Given the description of an element on the screen output the (x, y) to click on. 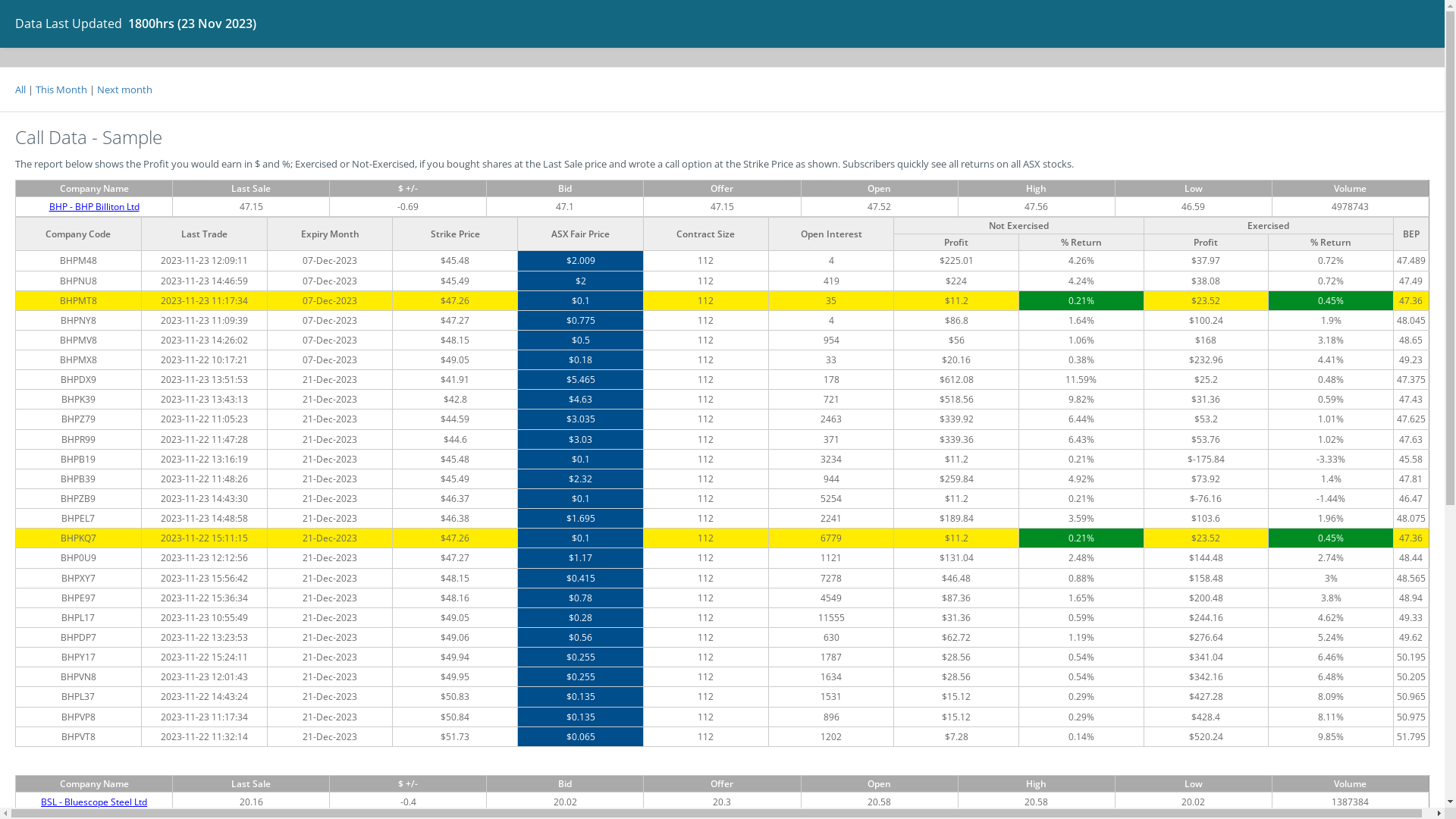
Next month Element type: text (124, 89)
BSL - Bluescope Steel Ltd Element type: text (93, 801)
This Month Element type: text (61, 89)
BHP - BHP Billiton Ltd Element type: text (94, 206)
All Element type: text (20, 89)
